Given the description of an element on the screen output the (x, y) to click on. 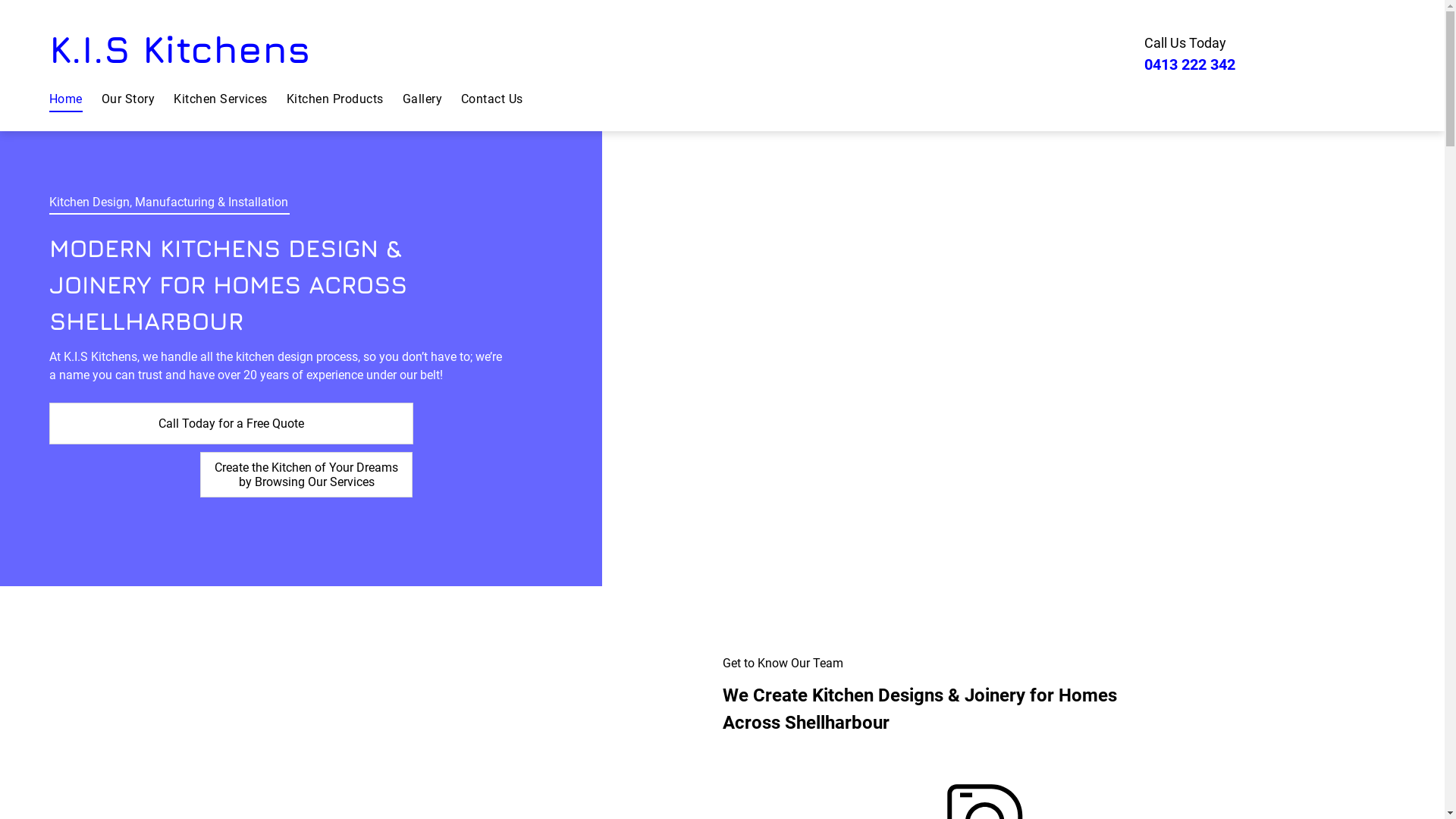
Call Today for a Free Quote Element type: text (231, 423)
Contact Us Element type: text (501, 99)
K.I.S Kitchens Element type: text (179, 48)
Gallery Element type: text (431, 99)
Kitchen Products Element type: text (344, 99)
Create the Kitchen of Your Dreams by Browsing Our Services Element type: text (306, 474)
Our Story Element type: text (137, 99)
Kitchen Services Element type: text (229, 99)
Home Element type: text (75, 99)
0413 222 342 Element type: text (1189, 64)
